Given the description of an element on the screen output the (x, y) to click on. 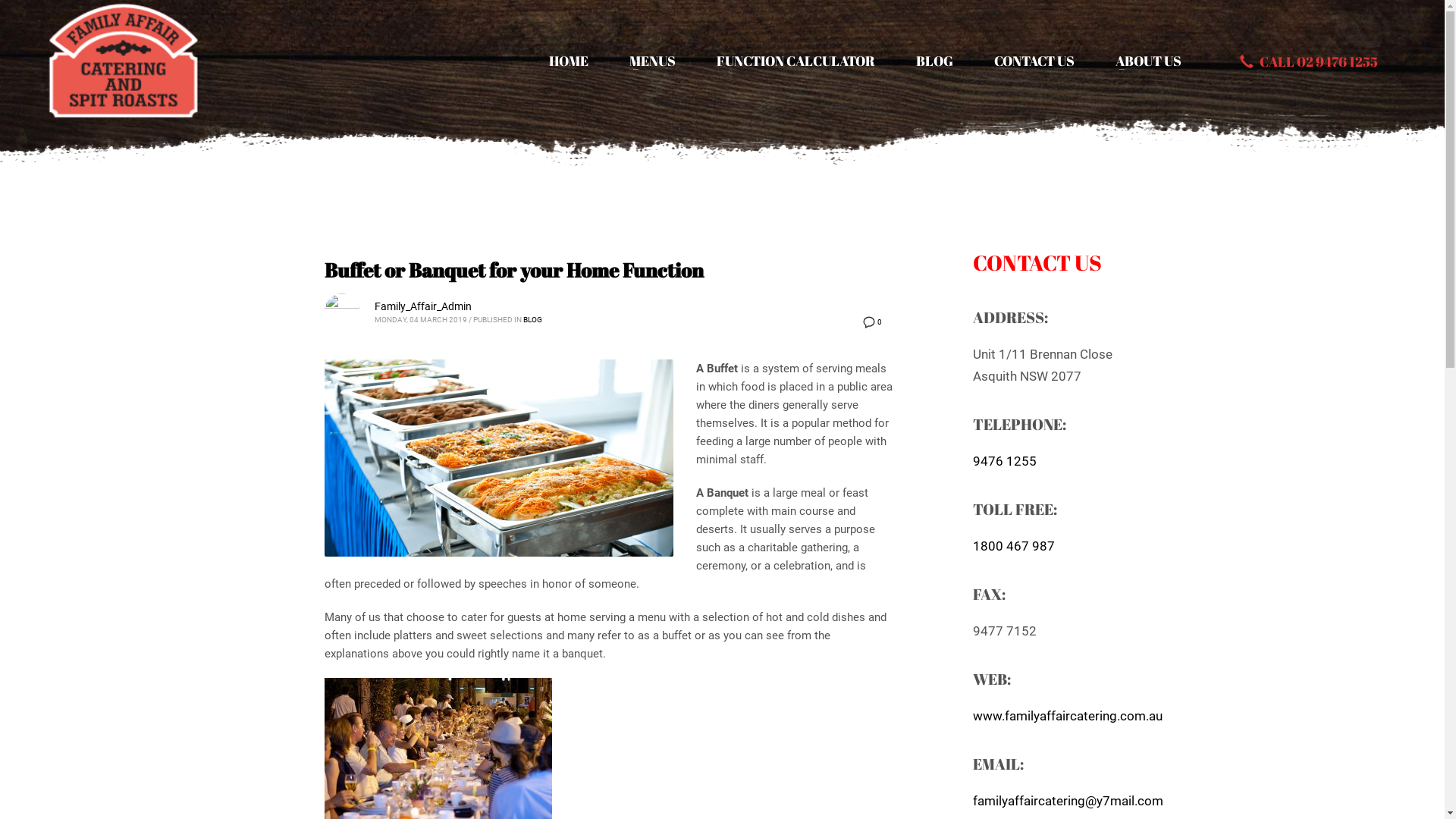
0 Element type: text (871, 321)
Family_Affair_Admin Element type: text (422, 306)
Buffet or Banquet for your Home Function Element type: text (513, 269)
familyaffaircatering@y7mail.com Element type: text (1067, 799)
BLOG Element type: text (934, 60)
buffet vs banquet Element type: hover (498, 457)
Stress Free Catering at a Realistic Price Element type: hover (123, 60)
1800 467 987 Element type: text (1013, 545)
HOME Element type: text (568, 60)
www.familyaffaircatering.com.au Element type: text (1066, 715)
FUNCTION CALCULATOR Element type: text (795, 60)
BLOG Element type: text (532, 319)
CONTACT US Element type: text (1034, 60)
ABOUT US Element type: text (1148, 60)
9476 1255 Element type: text (1003, 460)
CALL 02 9476 1255 Element type: text (1308, 60)
MENUS Element type: text (652, 60)
